Given the description of an element on the screen output the (x, y) to click on. 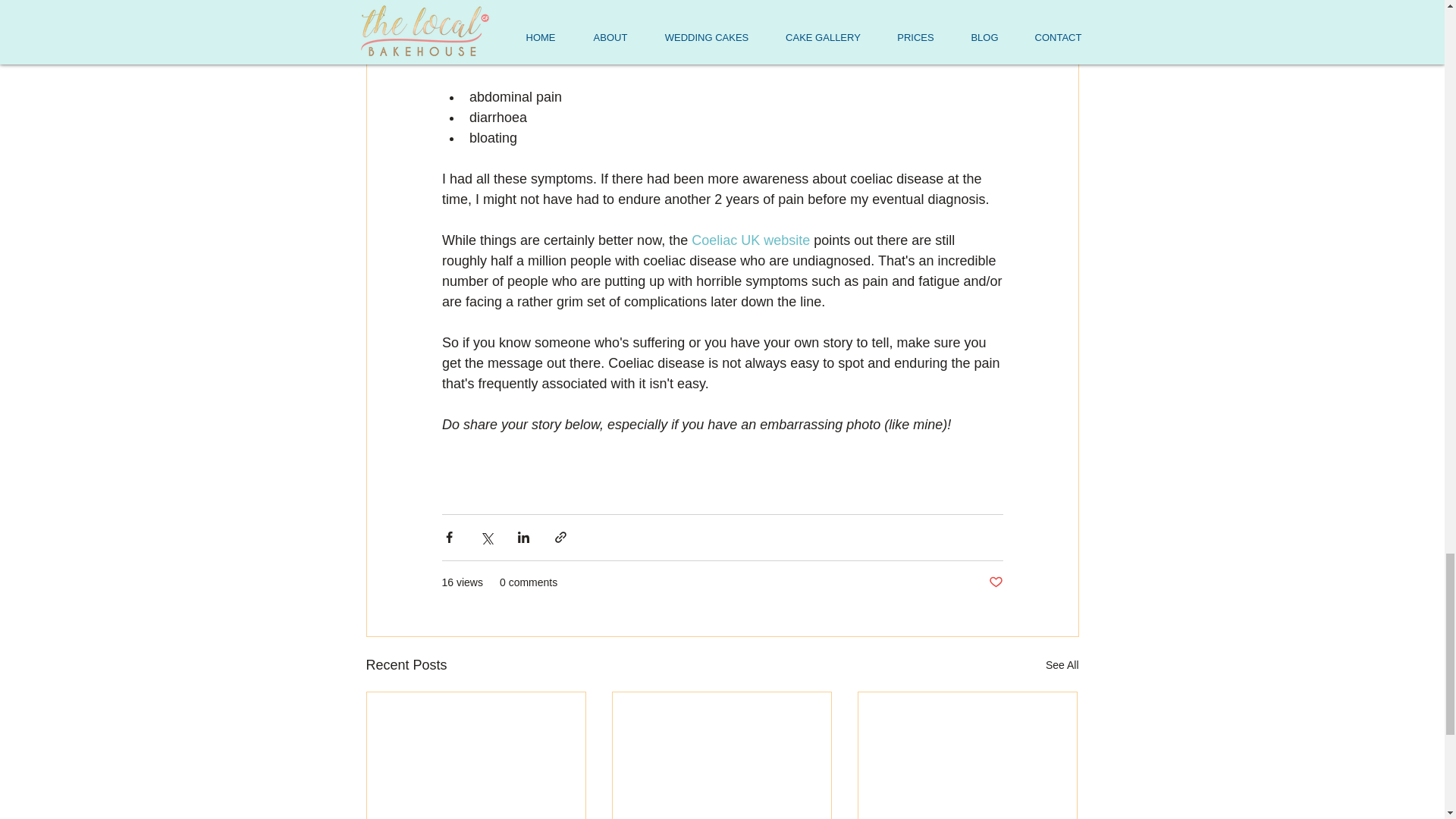
list on the NHS website (539, 55)
Coeliac UK website (750, 239)
Post not marked as liked (995, 582)
See All (1061, 664)
